Given the description of an element on the screen output the (x, y) to click on. 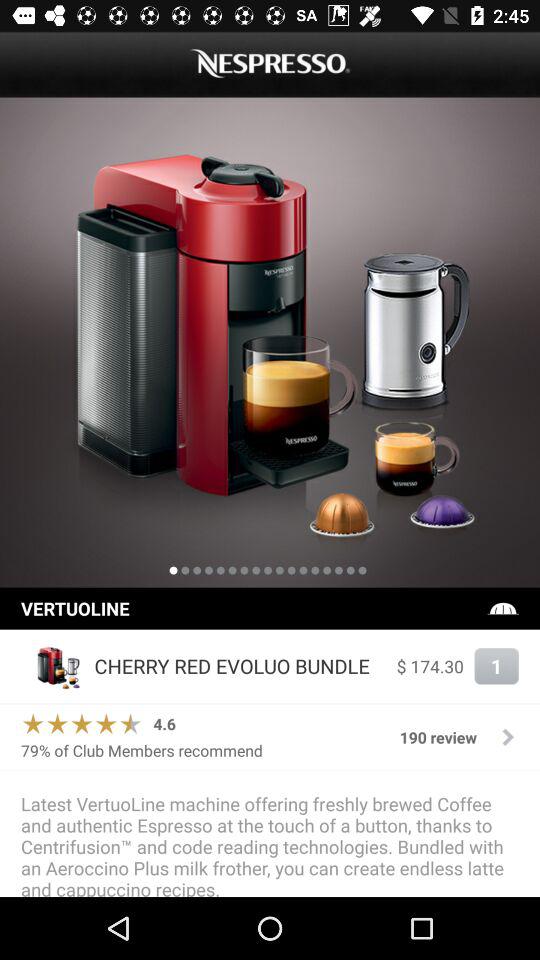
open the cherry red evoluo icon (240, 665)
